Given the description of an element on the screen output the (x, y) to click on. 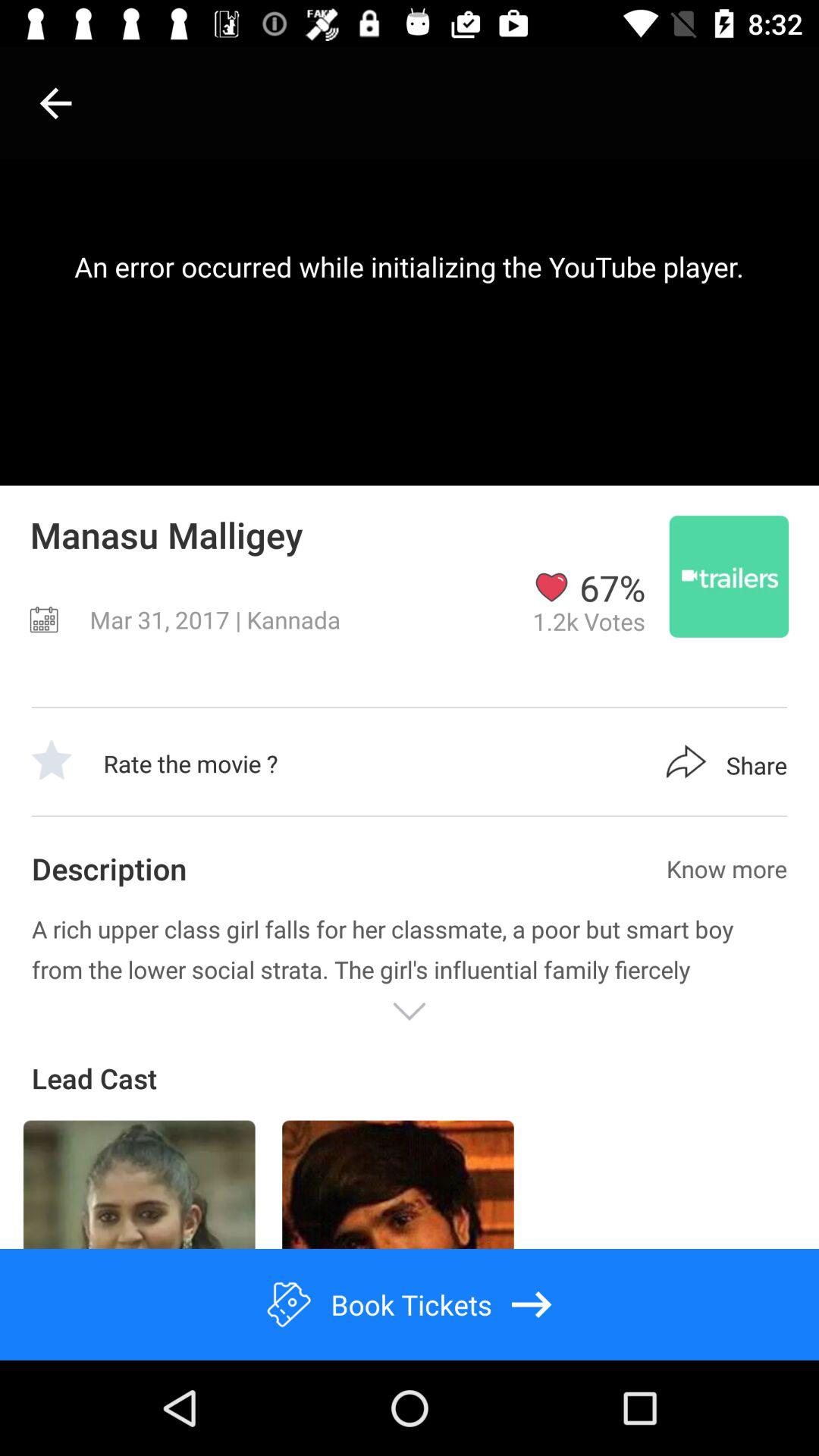
click to reveal rest of article (409, 1011)
